Given the description of an element on the screen output the (x, y) to click on. 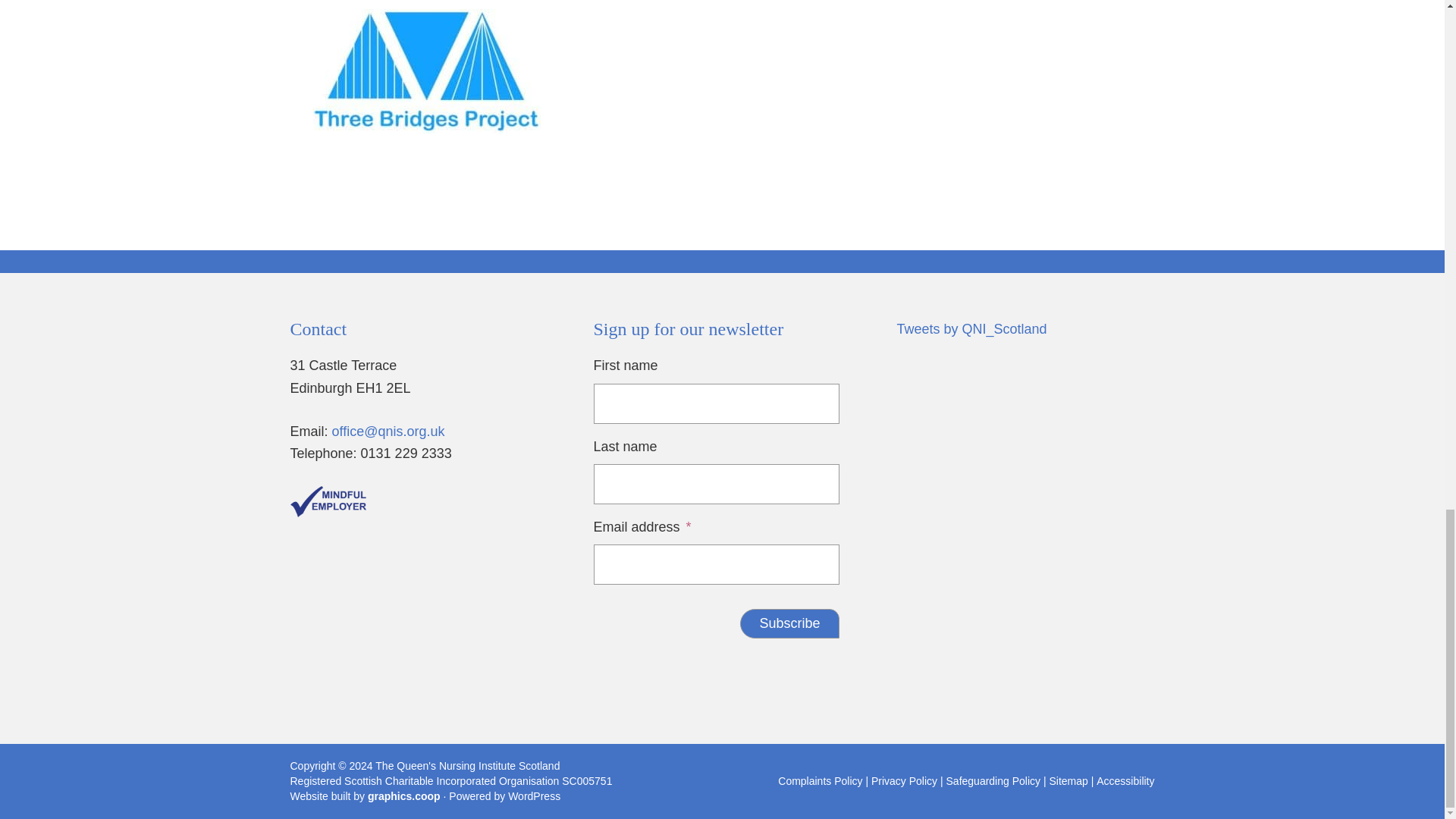
Subscribe (788, 623)
